Given the description of an element on the screen output the (x, y) to click on. 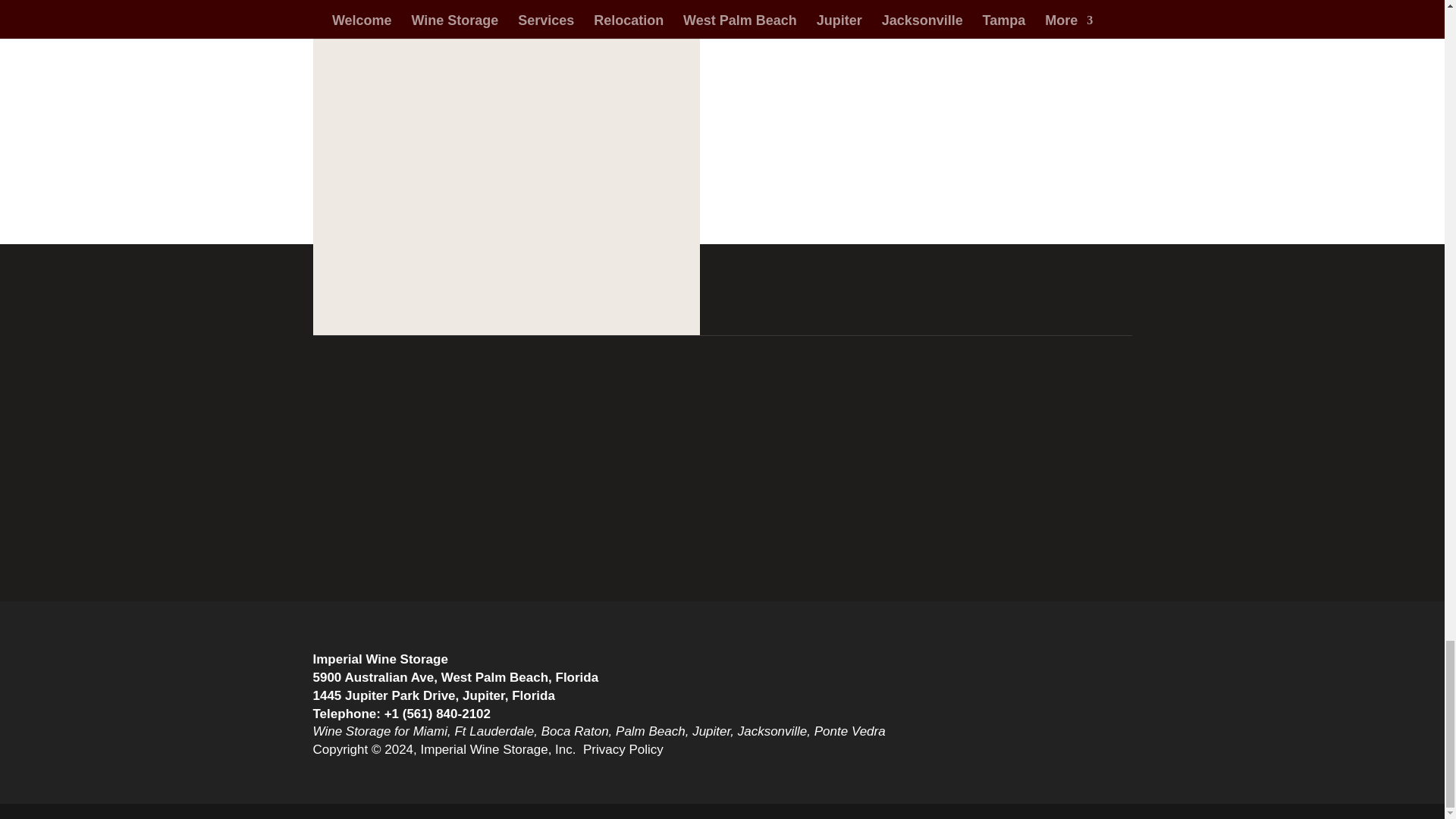
Privacy Policy (623, 749)
5900 Australian Ave, West Palm Beach, Florida (455, 677)
1445 Jupiter Park Drive, Jupiter, Florida (433, 695)
